Given the description of an element on the screen output the (x, y) to click on. 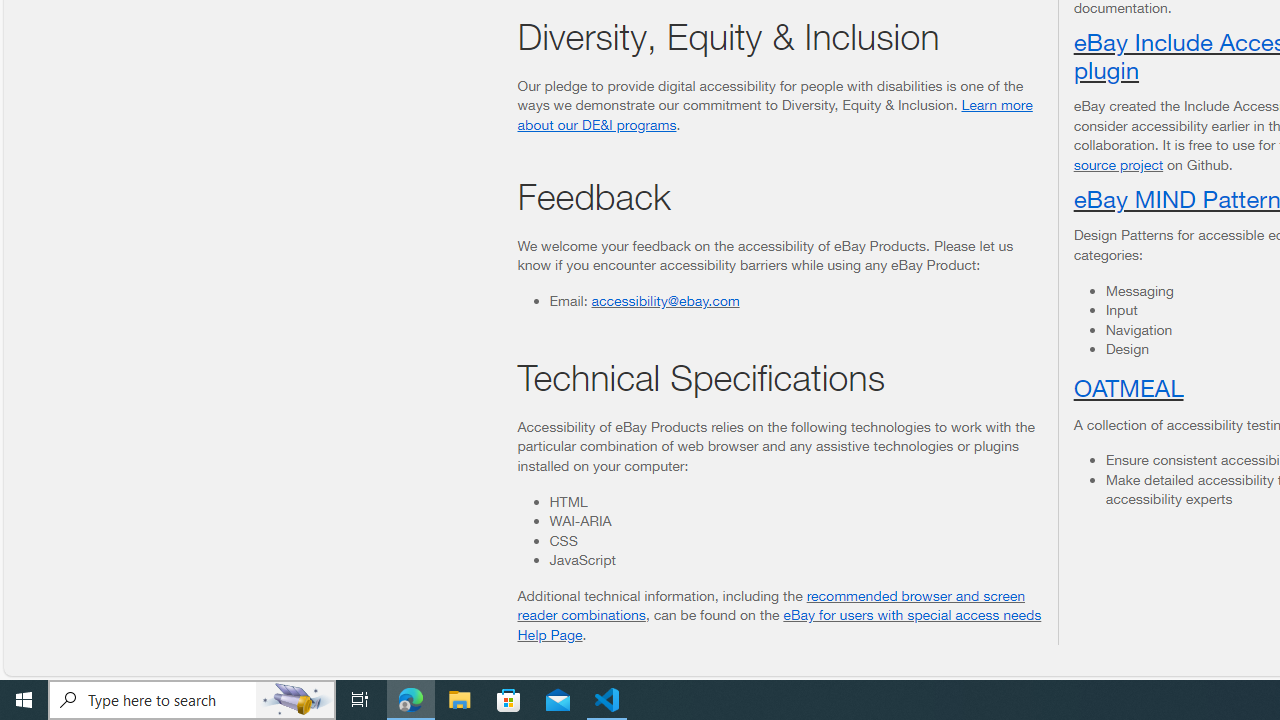
Email: accessibility@ebay.com (795, 300)
CSS (795, 539)
recommended browser and screen reader combinations (771, 605)
accessibility@ebay.com (665, 299)
eBay for users with special access needs Help Page (779, 624)
HTML (795, 501)
JavaScript (795, 560)
Learn more about our DE&I programs (774, 114)
WAI-ARIA (795, 521)
OATMEAL (1128, 386)
